Given the description of an element on the screen output the (x, y) to click on. 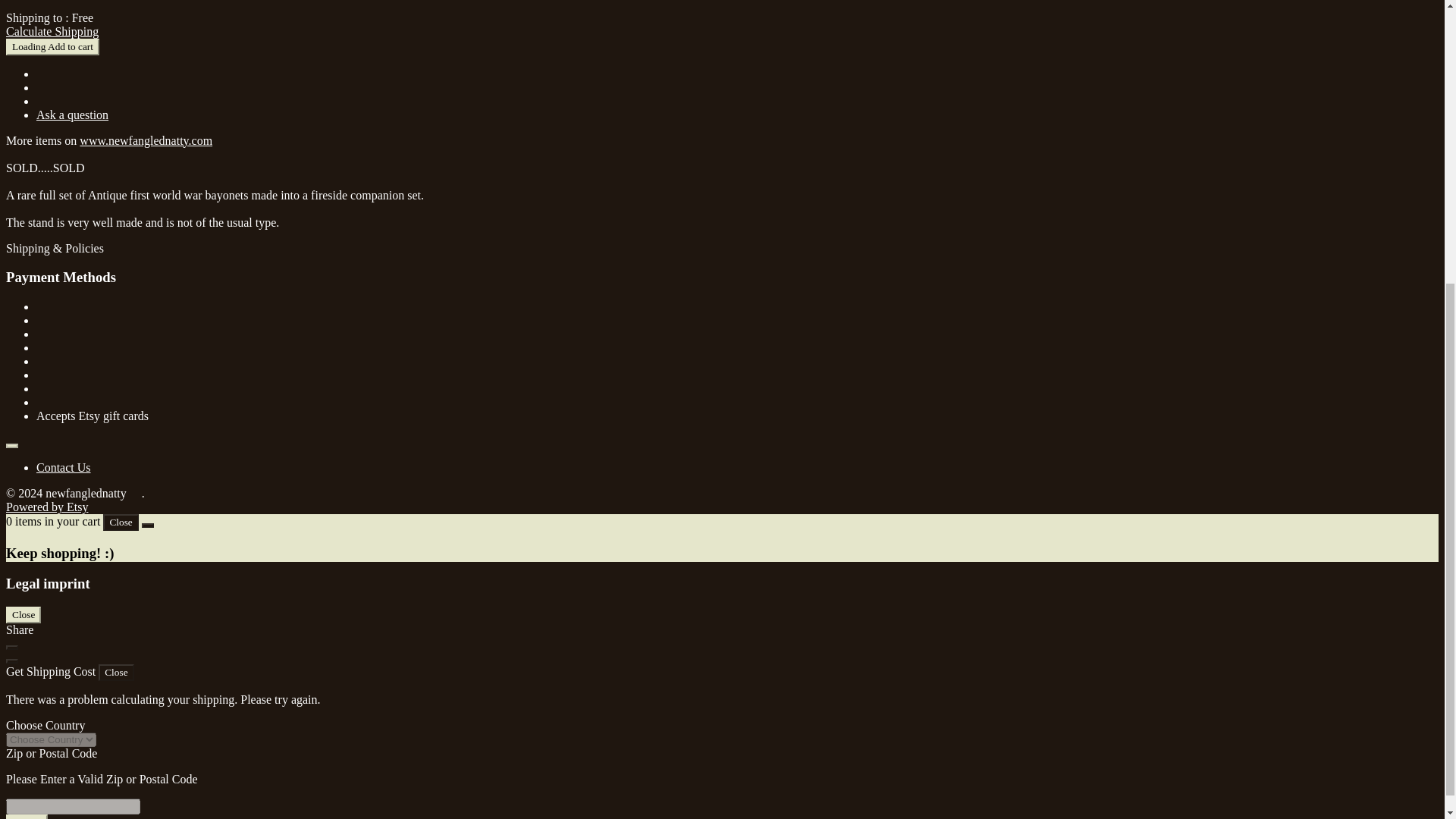
Powered by Etsy (46, 506)
Contact Us (63, 467)
Close (116, 672)
Calculate Shipping (52, 31)
Ask a question (71, 114)
Loading Add to cart (52, 46)
Close (120, 522)
Close (22, 614)
www.newfanglednatty.com (146, 140)
